Given the description of an element on the screen output the (x, y) to click on. 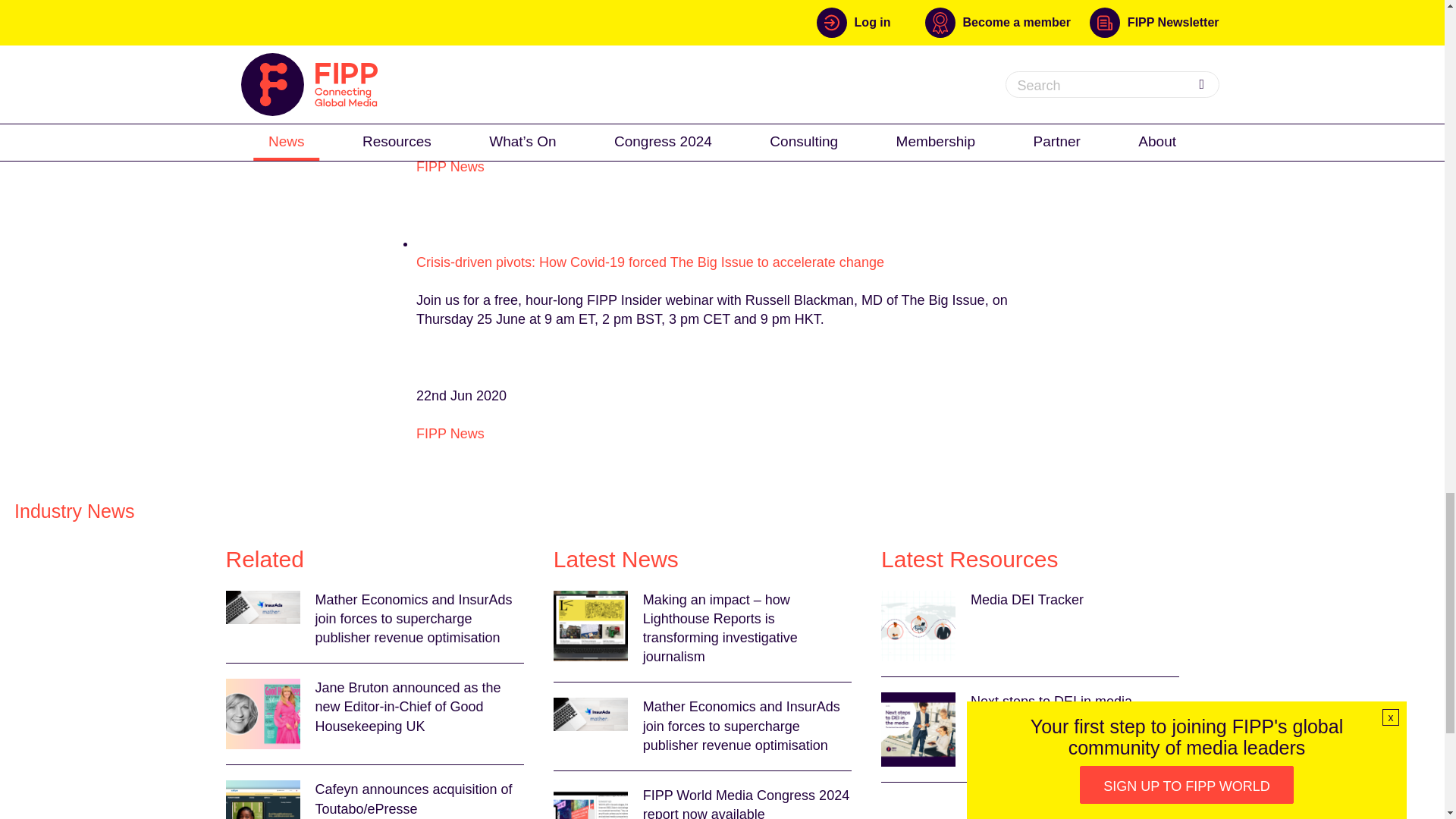
FIPP News (450, 166)
43rd FIPP World Congress (719, 42)
